Given the description of an element on the screen output the (x, y) to click on. 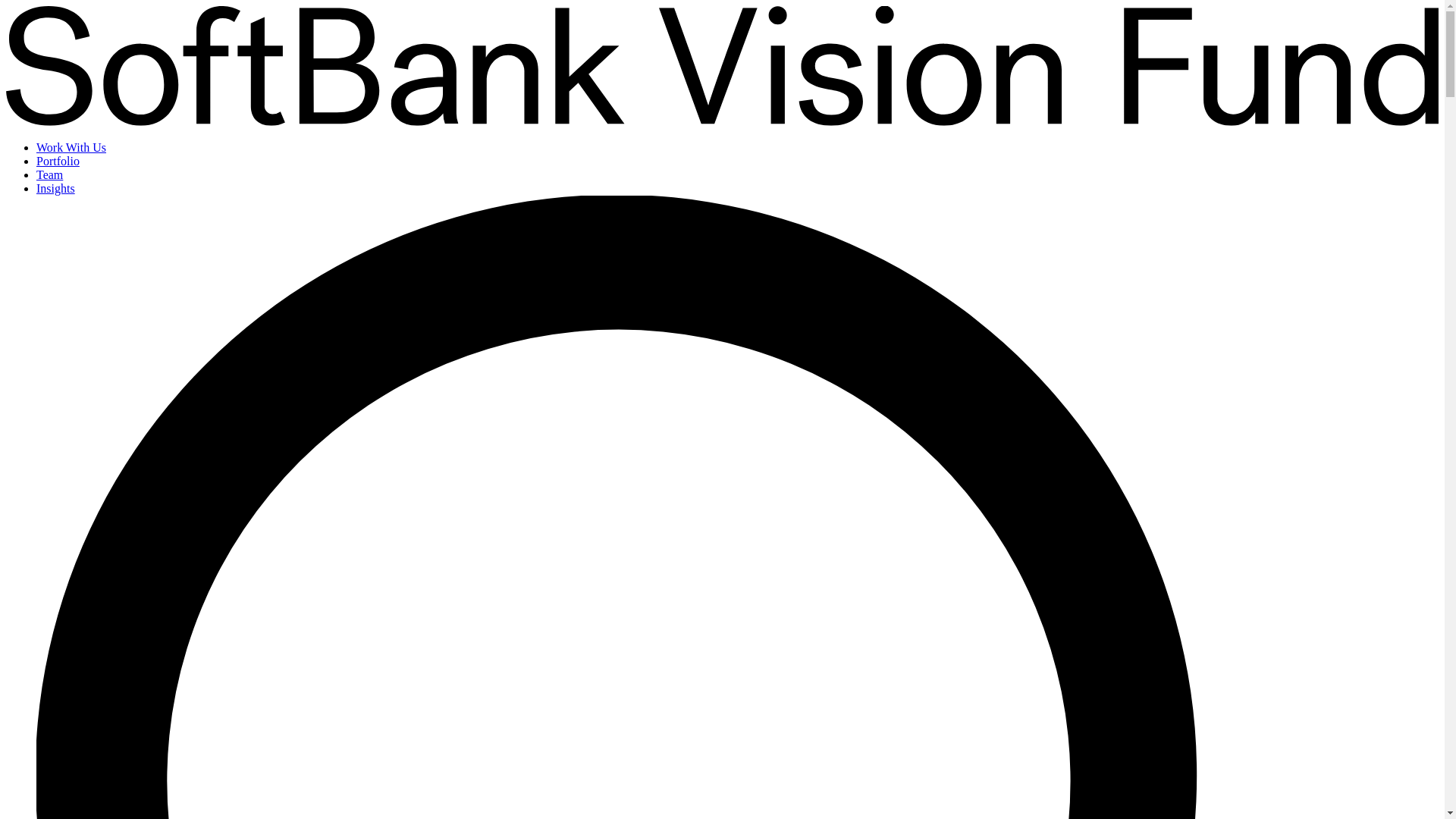
Work With Us (71, 146)
Insights (55, 187)
Portfolio (58, 160)
Team (49, 174)
